Given the description of an element on the screen output the (x, y) to click on. 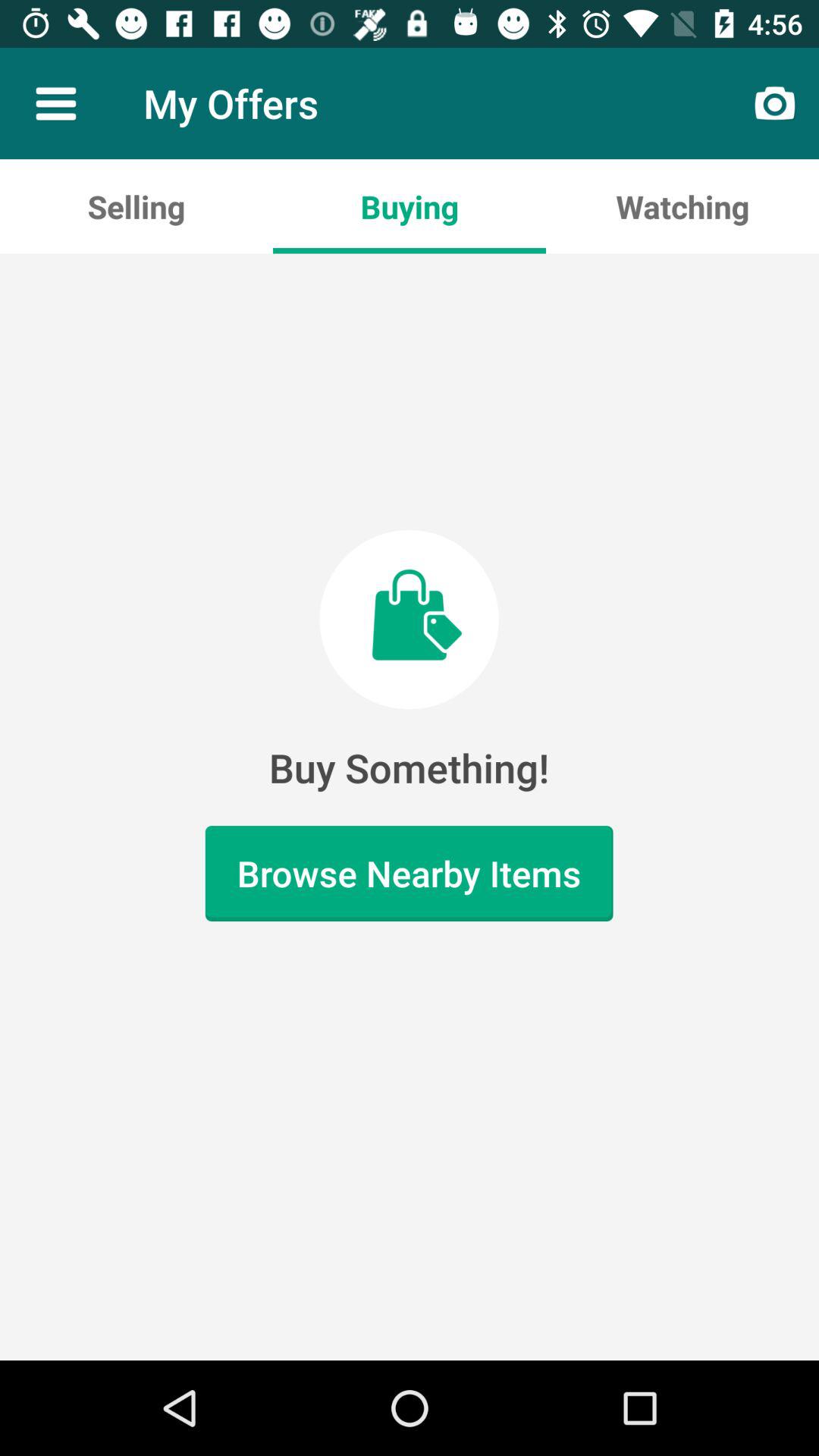
turn on buying (409, 206)
